Given the description of an element on the screen output the (x, y) to click on. 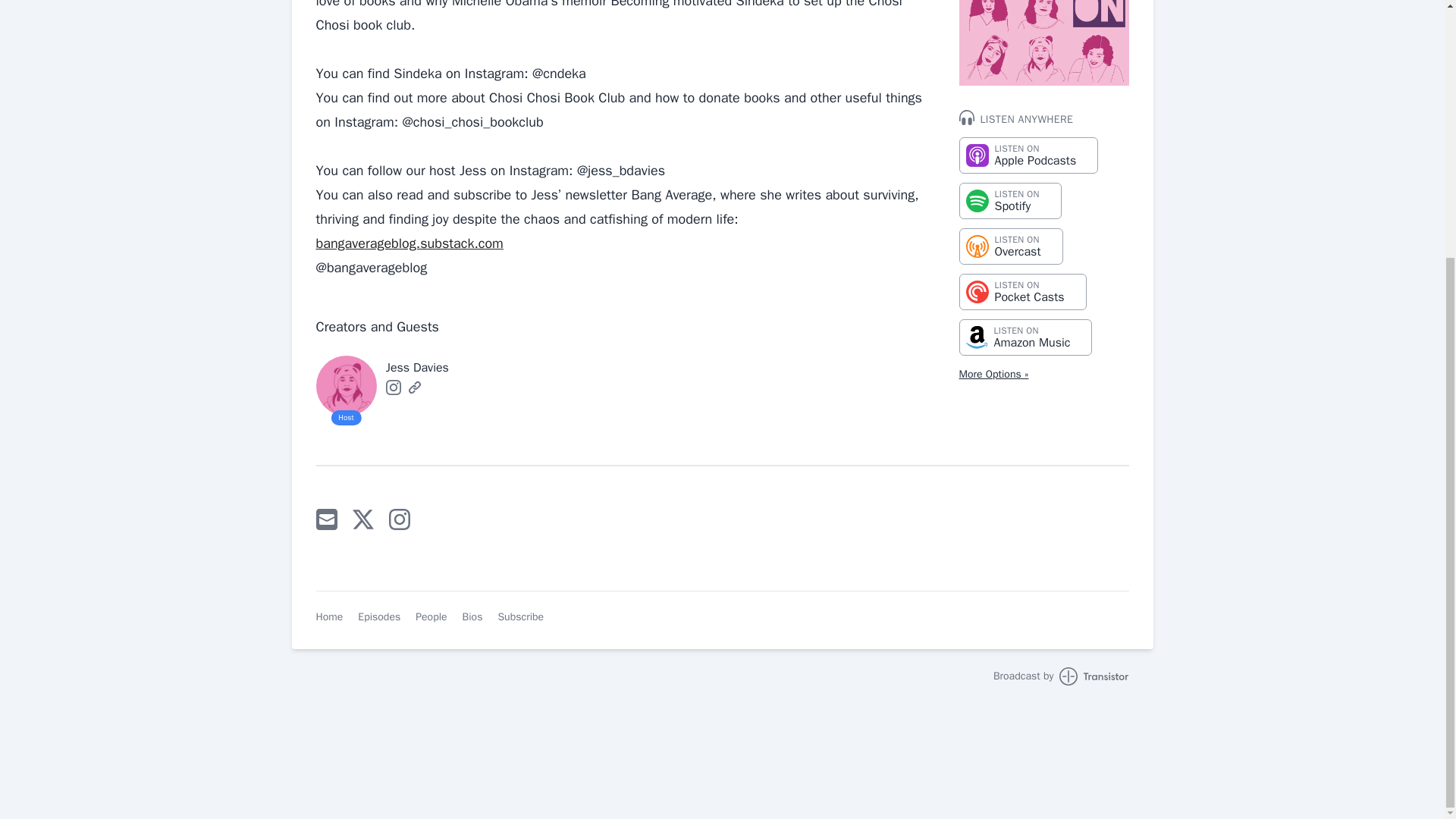
1x (112, 497)
Bios (1025, 337)
Episodes (473, 616)
Home (379, 616)
Instagram (328, 616)
Website (1027, 155)
People (1009, 200)
Broadcast by (392, 387)
bangaverageblog.substack.com (414, 387)
Jess Davies (1022, 291)
